Given the description of an element on the screen output the (x, y) to click on. 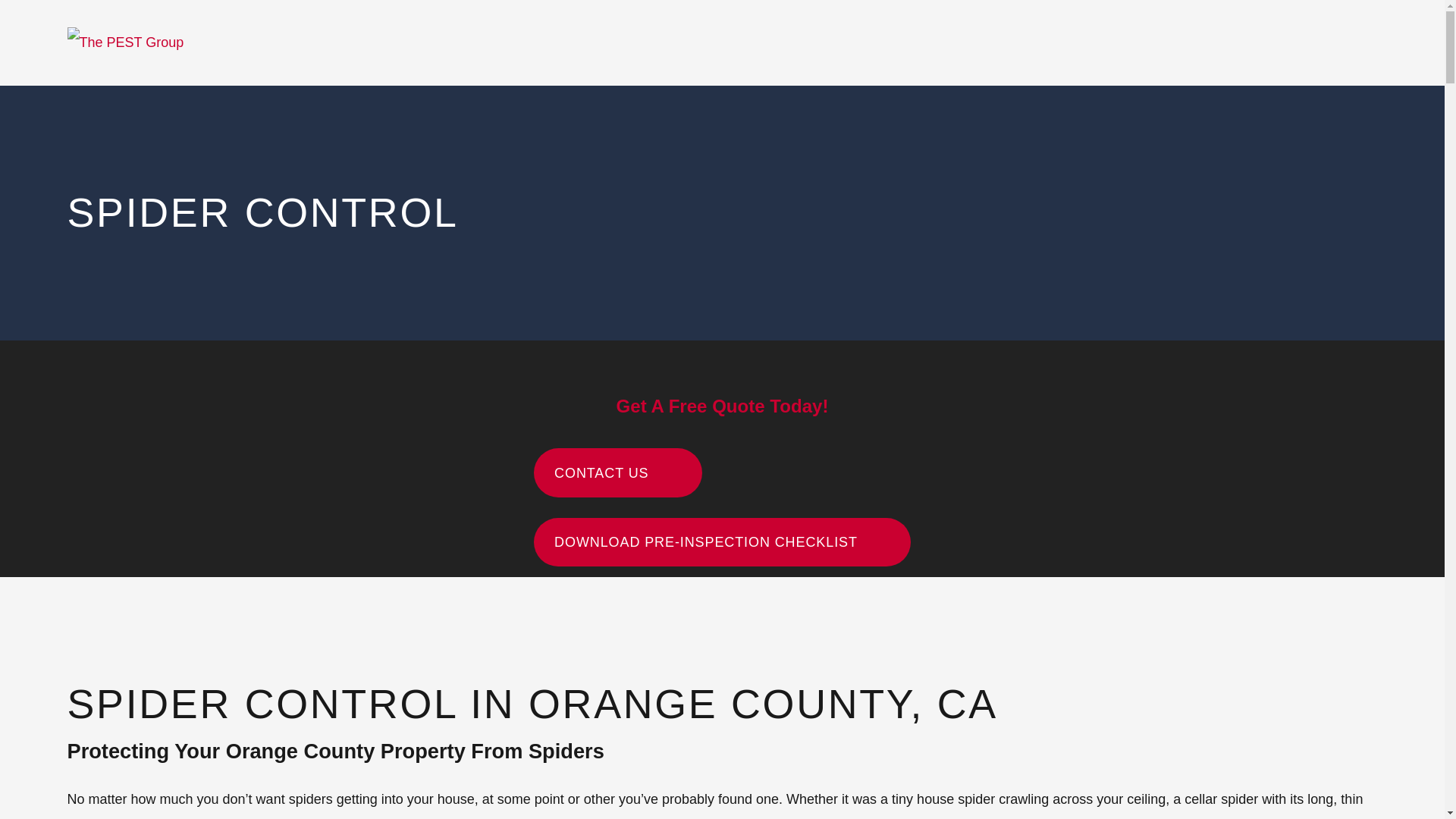
The PEST Group (124, 42)
Home (124, 42)
